Given the description of an element on the screen output the (x, y) to click on. 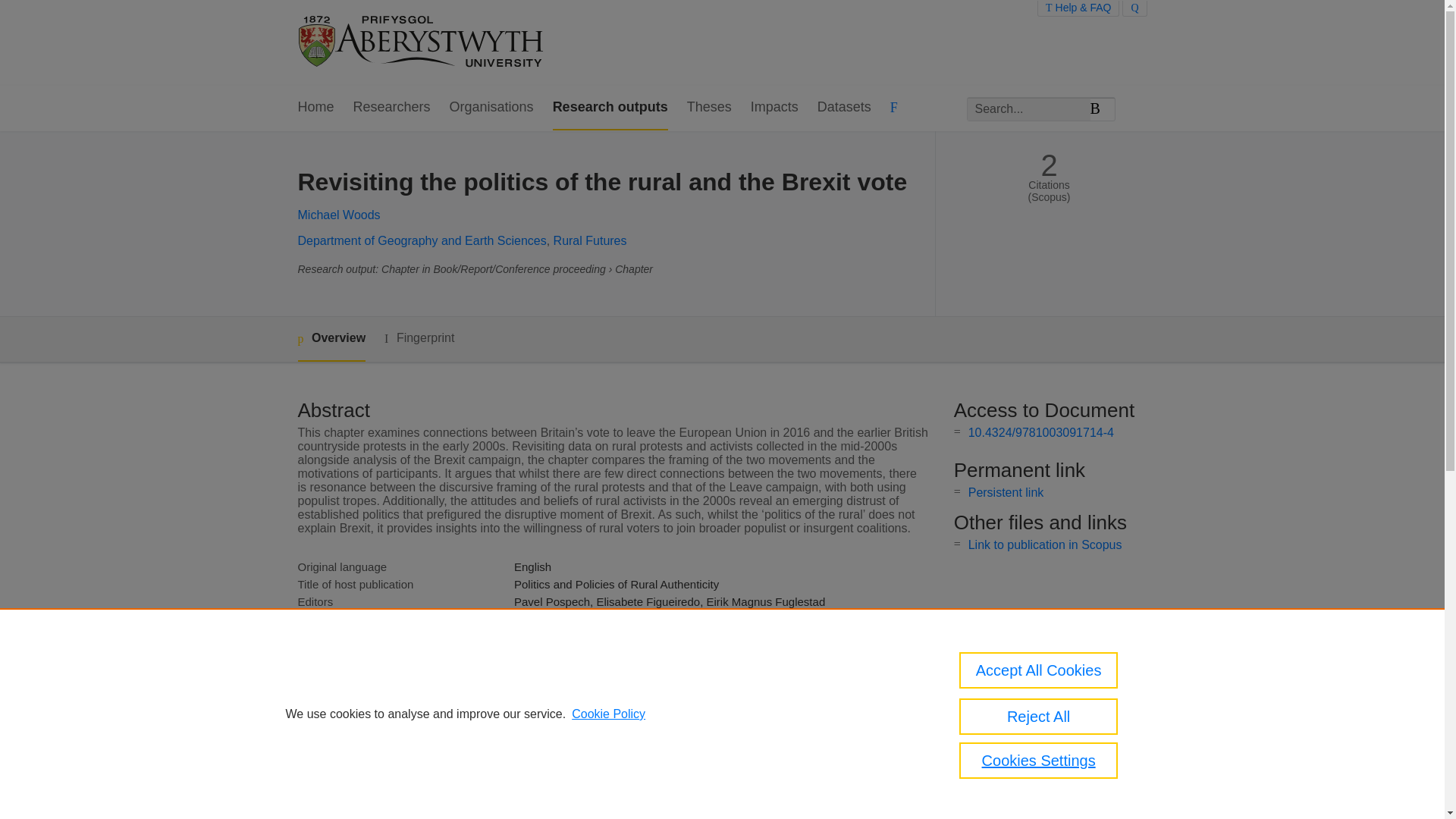
Theses (709, 107)
Impacts (774, 107)
Research outputs (610, 107)
Michael Woods (338, 214)
Fingerprint (419, 338)
Persistent link (1005, 492)
Department of Geography and Earth Sciences (421, 240)
Overview (331, 338)
Organisations (491, 107)
Link to publication in Scopus (1045, 544)
